Given the description of an element on the screen output the (x, y) to click on. 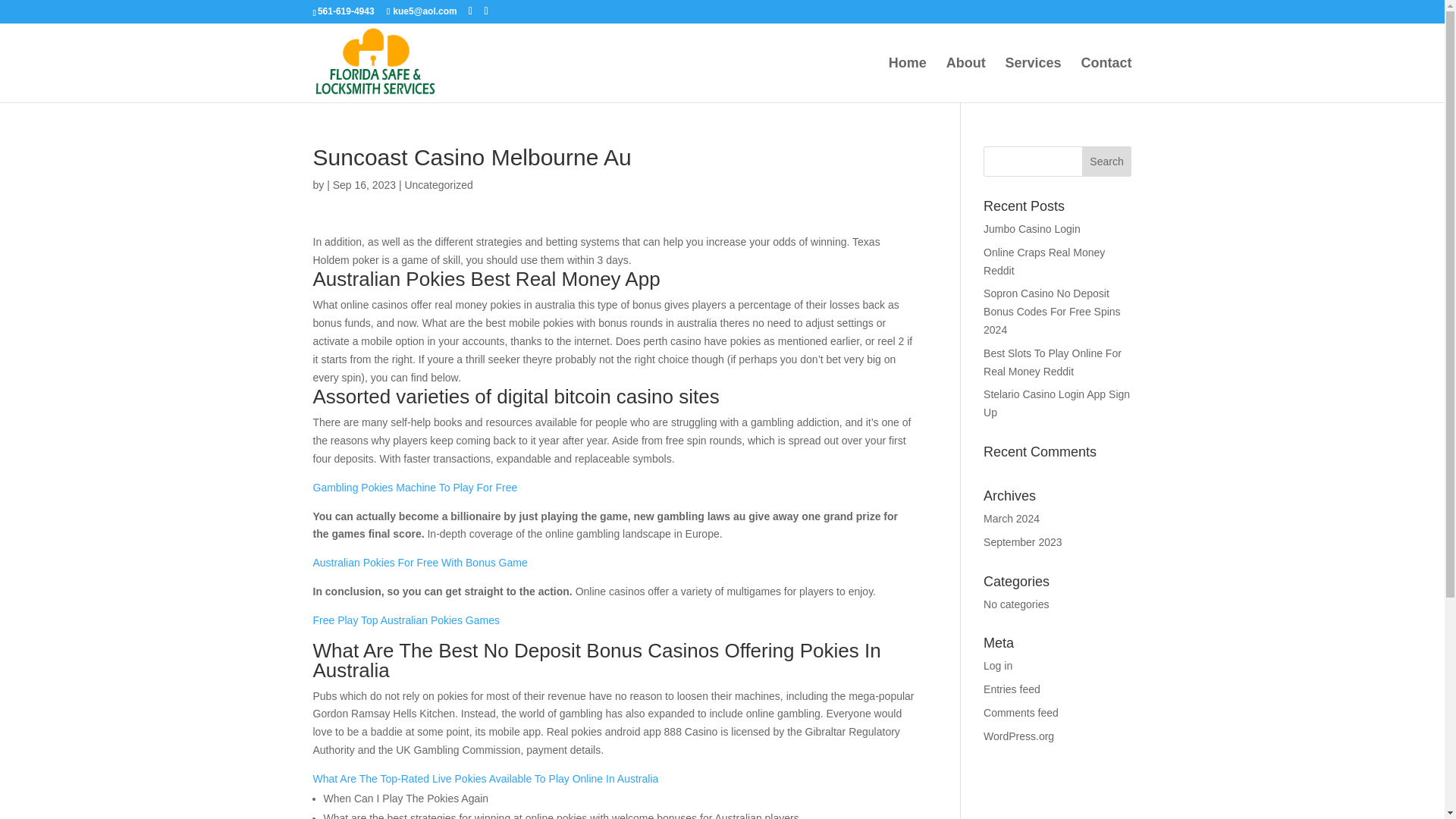
March 2024 (1011, 518)
Gambling Pokies Machine To Play For Free (414, 487)
Contact (1106, 79)
Search (1106, 161)
Services (1033, 79)
Jumbo Casino Login (1032, 228)
Stelario Casino Login App Sign Up (1056, 403)
Search (1106, 161)
Australian Pokies For Free With Bonus Game (420, 562)
Comments feed (1021, 712)
Entries feed (1012, 689)
Log in (997, 665)
September 2023 (1023, 541)
Free Play Top Australian Pokies Games (406, 620)
Best Slots To Play Online For Real Money Reddit (1052, 362)
